Given the description of an element on the screen output the (x, y) to click on. 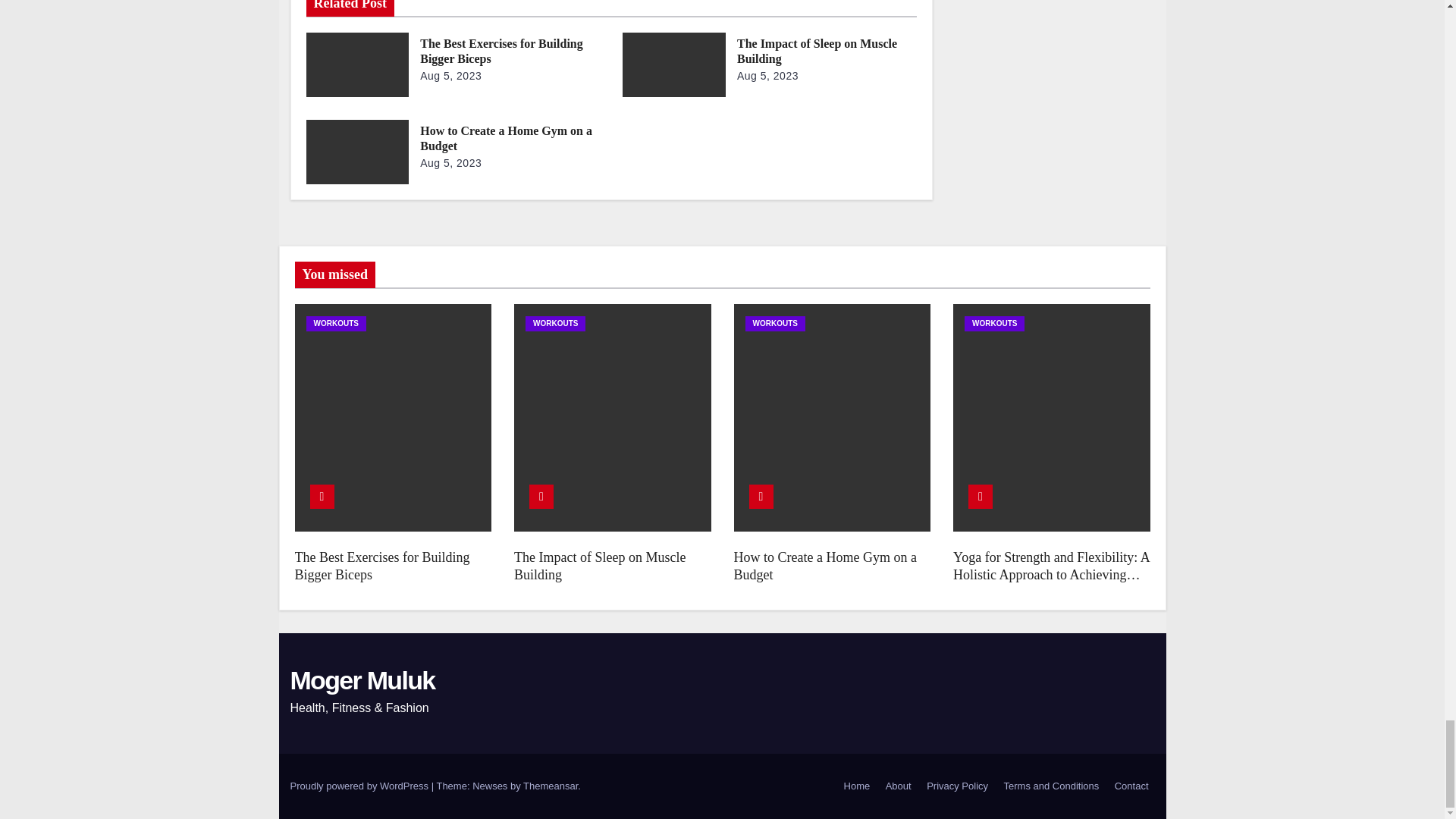
The Best Exercises for Building Bigger Biceps (501, 50)
Aug 5, 2023 (450, 162)
WORKOUTS (335, 323)
How to Create a Home Gym on a Budget (506, 138)
Aug 5, 2023 (450, 75)
Aug 5, 2023 (766, 75)
